Given the description of an element on the screen output the (x, y) to click on. 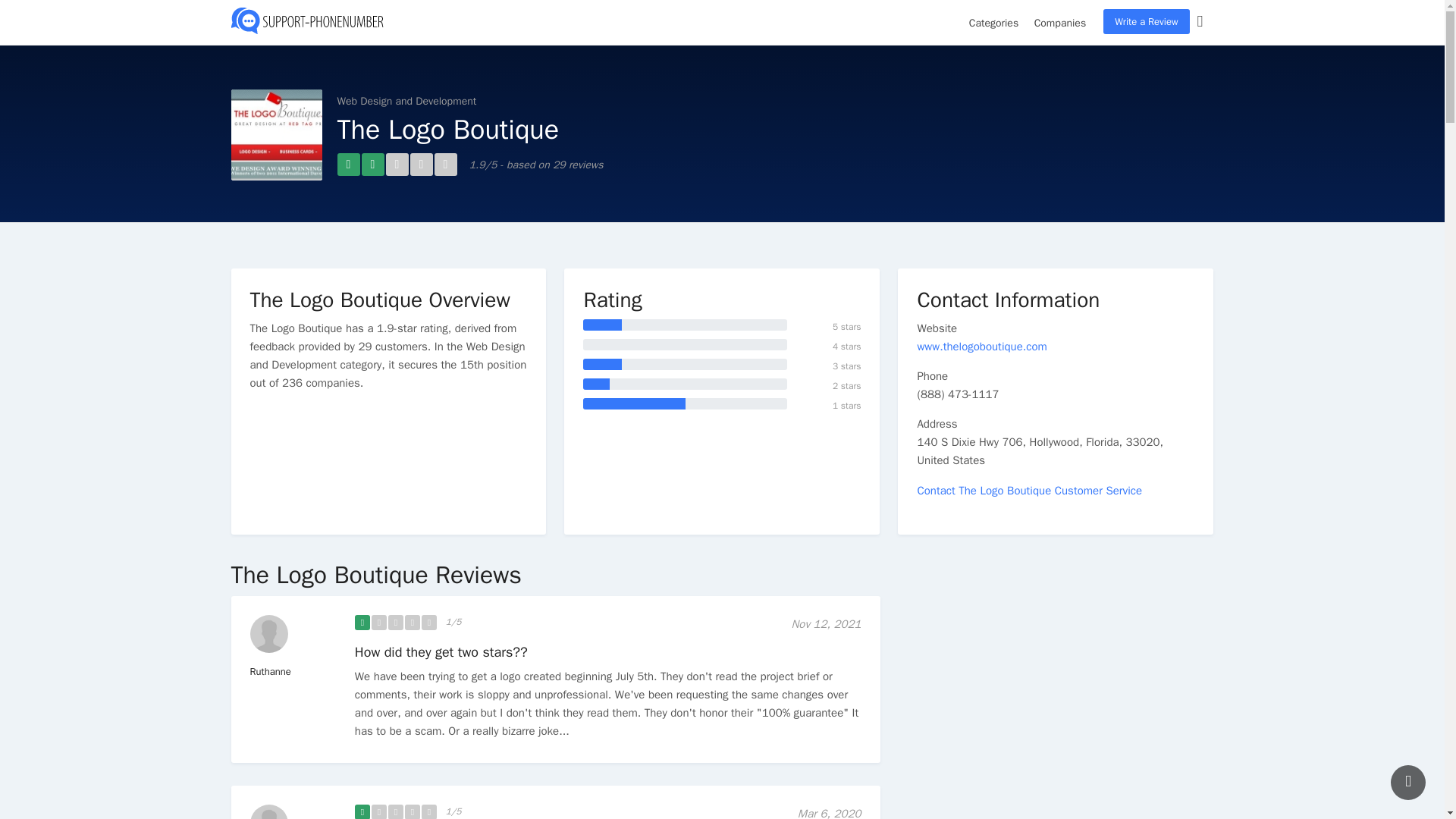
Sign In (1204, 22)
Web Design and Development (406, 101)
Sign In (1204, 22)
Companies (1060, 29)
Contact The Logo Boutique Customer Service (1029, 490)
www.thelogoboutique.com (981, 345)
Categories (993, 29)
Write a Review (1146, 21)
